Given the description of an element on the screen output the (x, y) to click on. 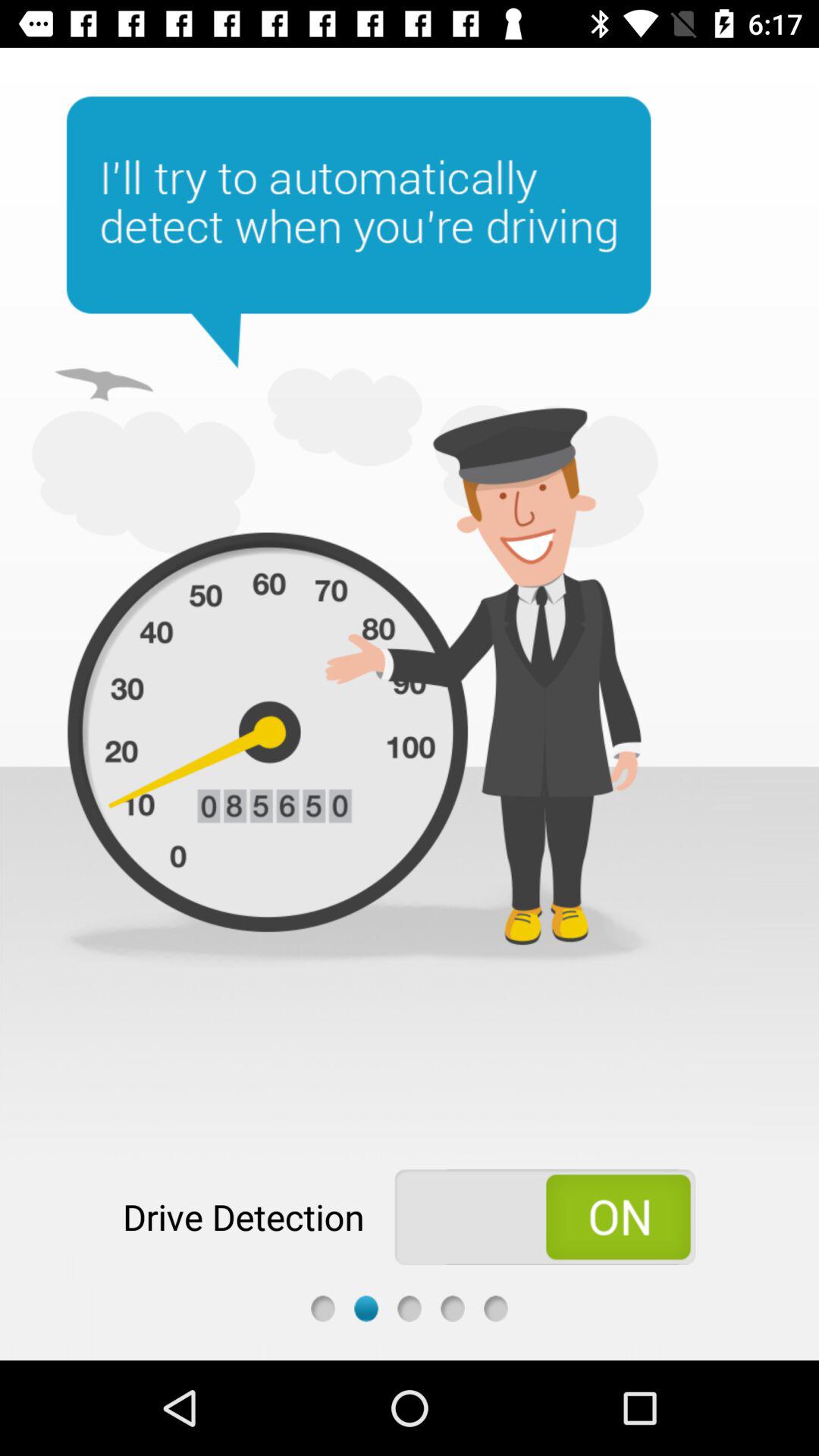
swipe for drive detection (544, 1216)
